Given the description of an element on the screen output the (x, y) to click on. 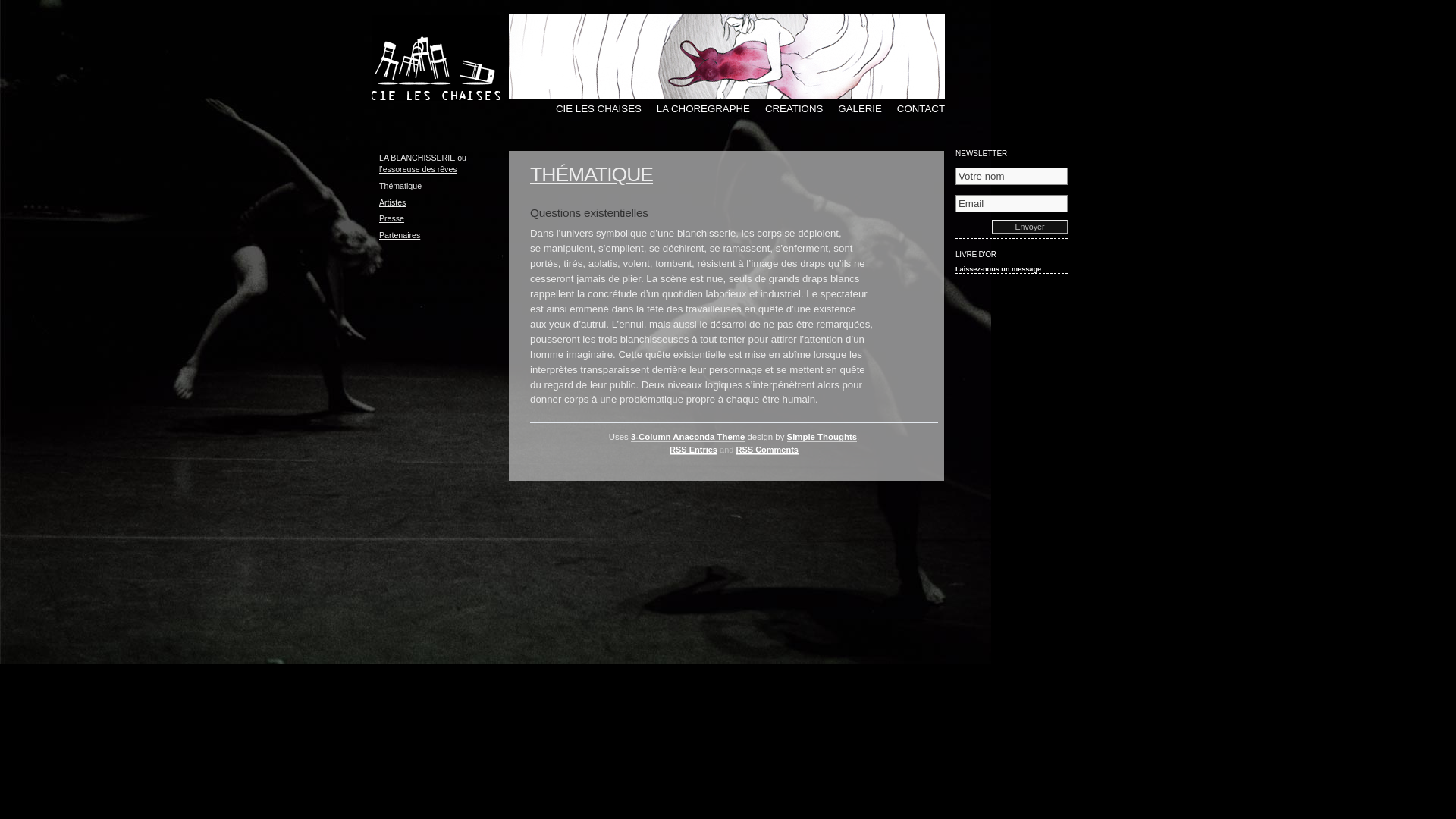
Simple Thoughts Element type: text (822, 437)
Presse Element type: text (391, 217)
CONTACT Element type: text (912, 108)
Artistes Element type: text (392, 201)
Laissez-nous un message Element type: text (998, 269)
RSS Entries Element type: text (693, 450)
Partenaires Element type: text (399, 234)
GALERIE Element type: text (851, 108)
Envoyer Element type: text (1029, 226)
LA CHOREGRAPHE Element type: text (695, 108)
3-Column Anaconda Theme Element type: text (687, 437)
CIE LES CHAISES Element type: text (590, 108)
CREATIONS Element type: text (785, 108)
RSS Comments Element type: text (766, 450)
